Given the description of an element on the screen output the (x, y) to click on. 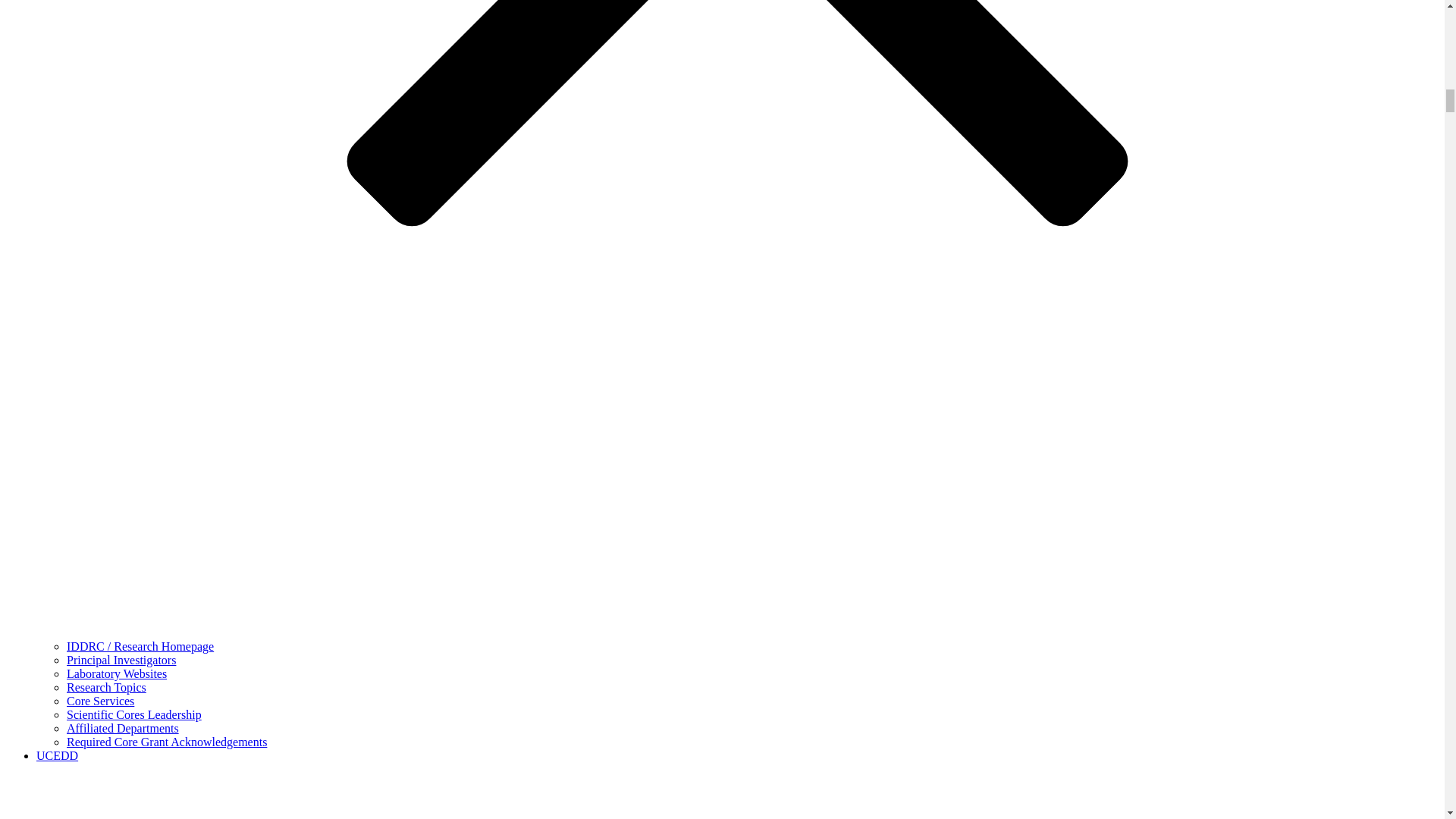
Research Topics (106, 686)
Principal Investigators (121, 659)
Affiliated Departments (122, 727)
Laboratory Websites (116, 673)
Core Services (99, 700)
Scientific Cores Leadership (134, 714)
Required Core Grant Acknowledgements (166, 741)
